Given the description of an element on the screen output the (x, y) to click on. 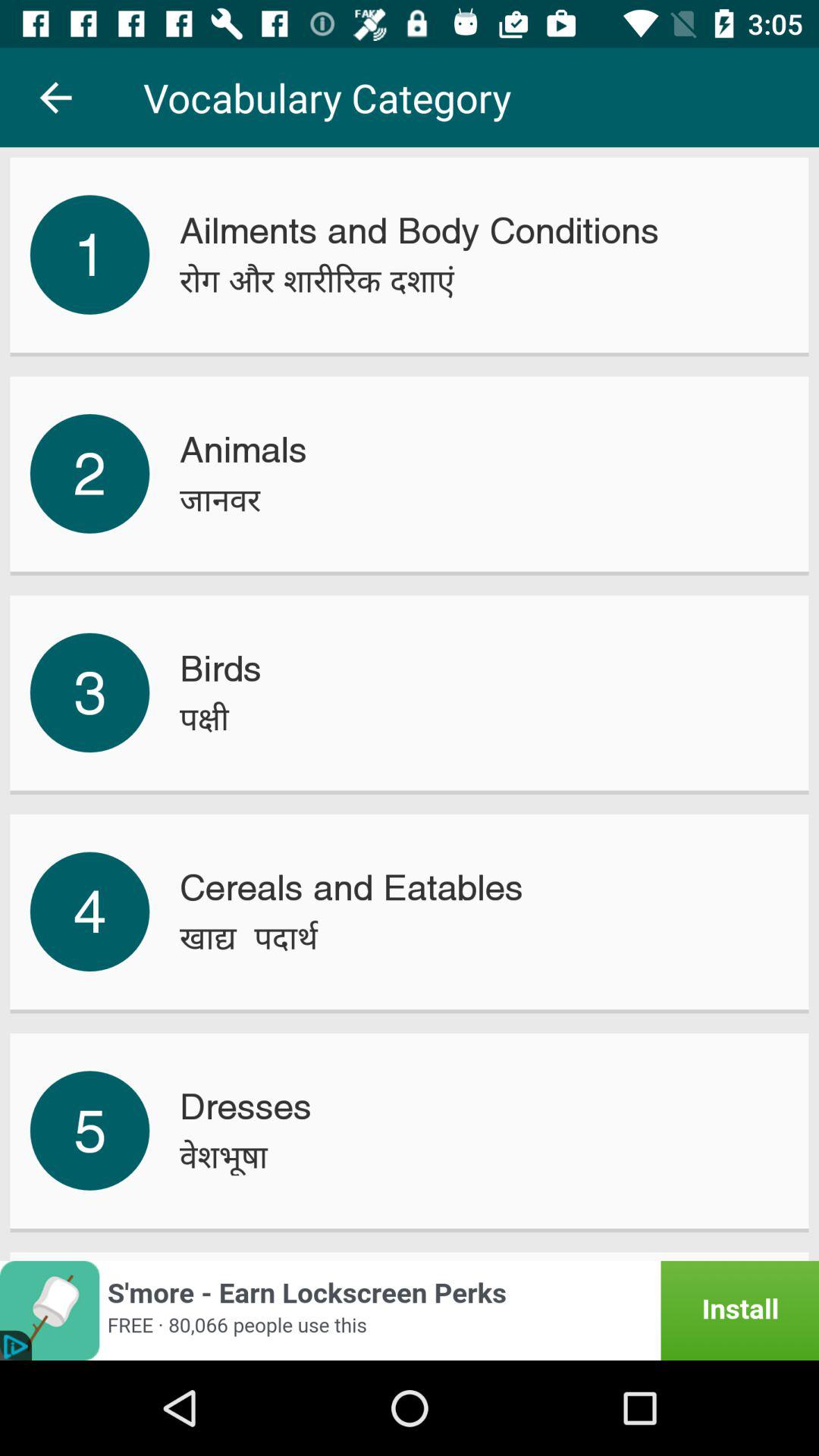
press the item next to 5 icon (223, 1156)
